Given the description of an element on the screen output the (x, y) to click on. 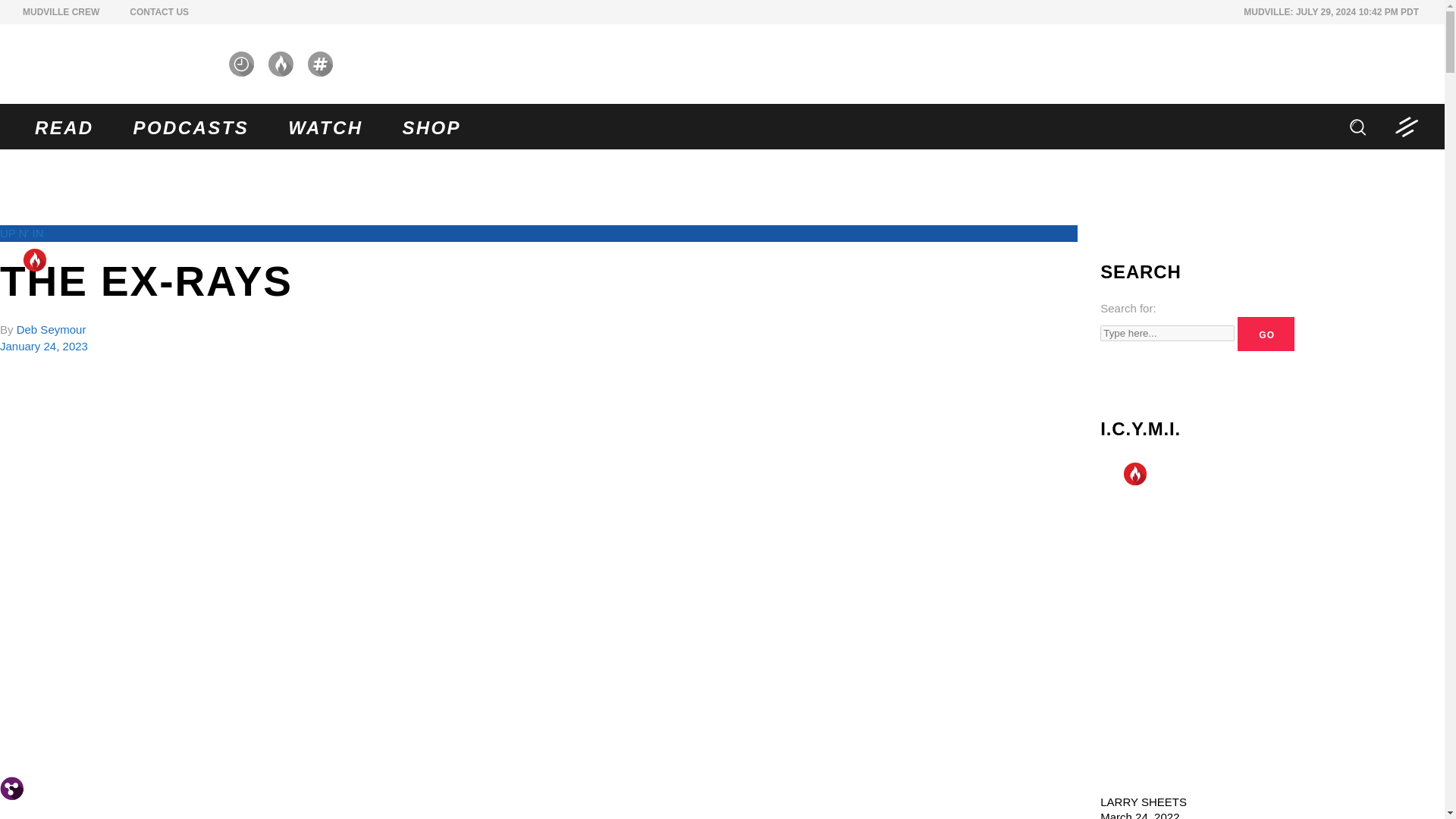
CONTACT US (159, 11)
MUDVILLE CREW (61, 11)
READ (64, 126)
PODCASTS (191, 126)
